Given the description of an element on the screen output the (x, y) to click on. 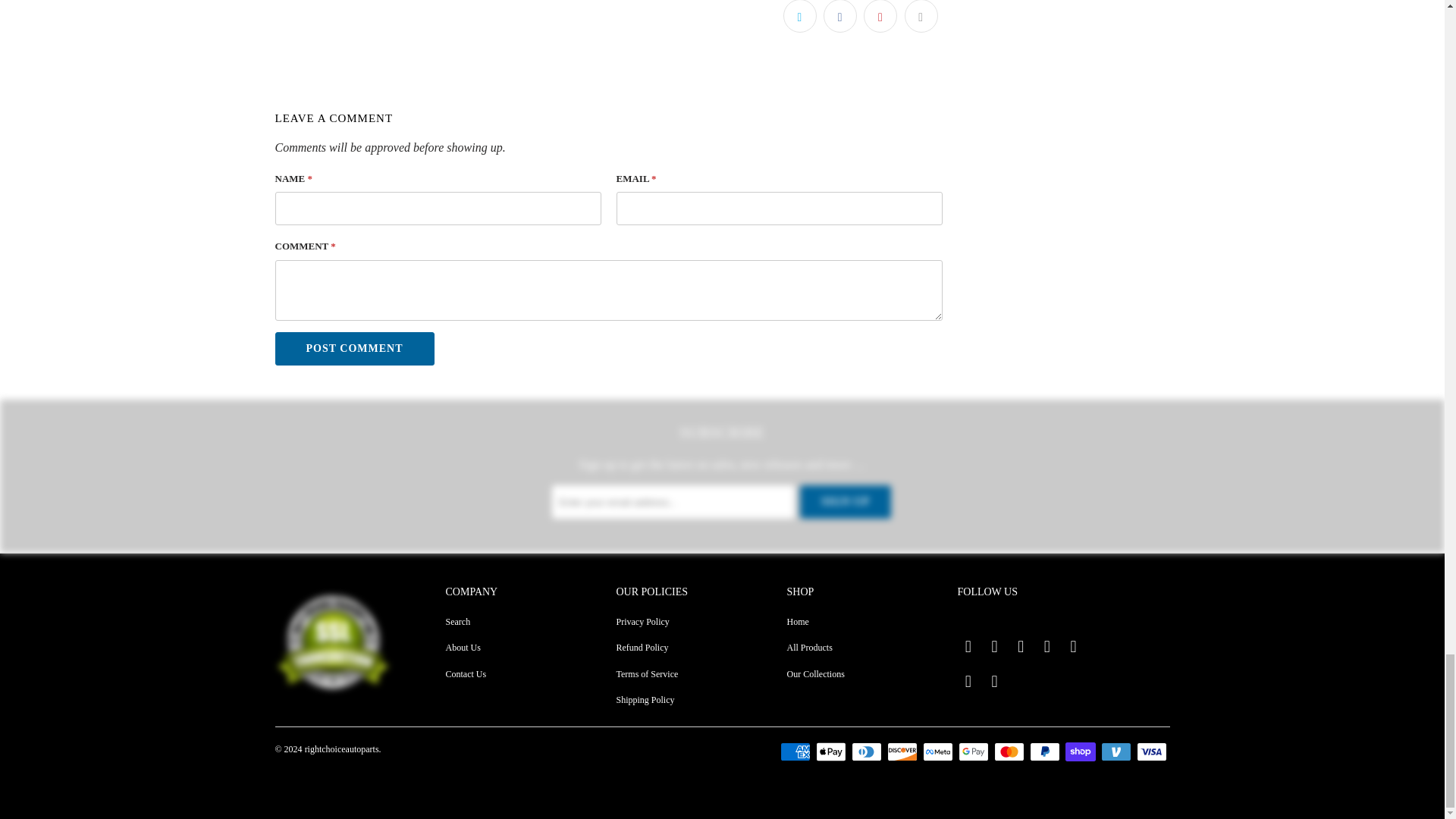
Share this on Facebook (840, 16)
Sign Up (845, 501)
Share this on Twitter (799, 16)
Post comment (354, 348)
